Given the description of an element on the screen output the (x, y) to click on. 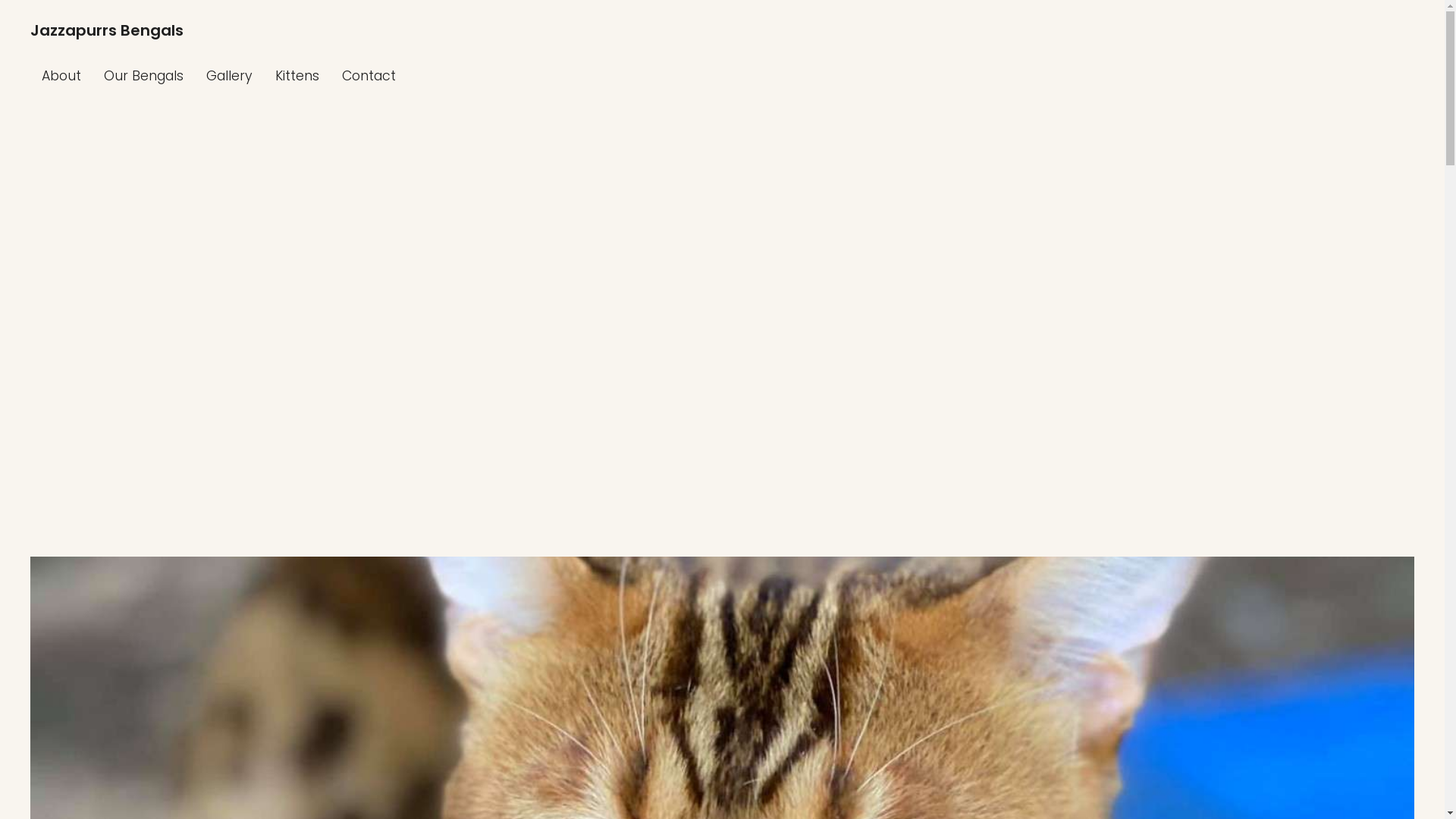
Kittens Element type: text (296, 75)
Our Bengals Element type: text (143, 75)
Jazzapurrs Bengals Element type: text (106, 30)
About Element type: text (61, 75)
Contact Element type: text (368, 75)
Gallery Element type: text (228, 75)
